Given the description of an element on the screen output the (x, y) to click on. 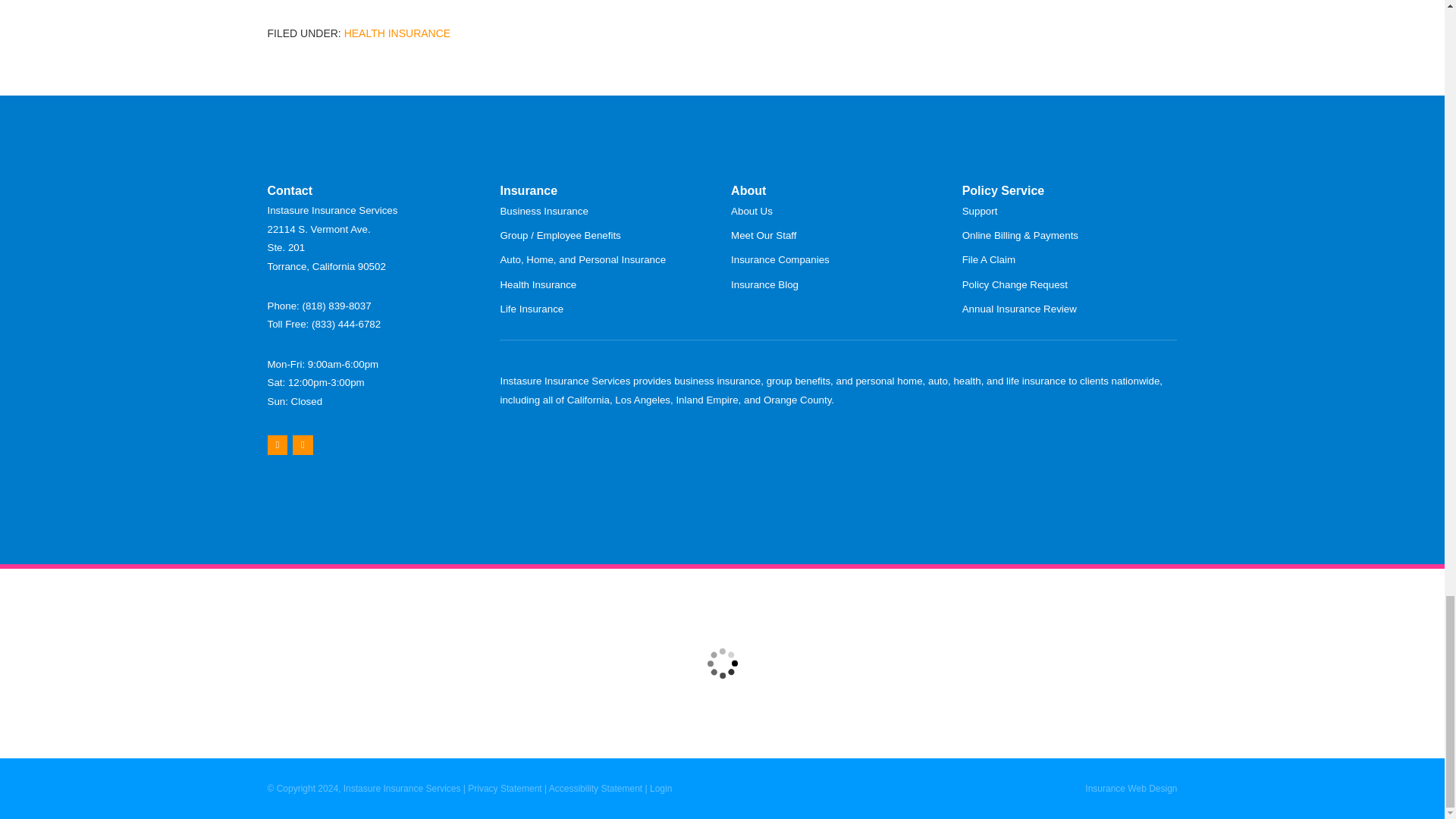
Health Insurance (397, 33)
Yelp (302, 444)
Google Maps (276, 444)
